Given the description of an element on the screen output the (x, y) to click on. 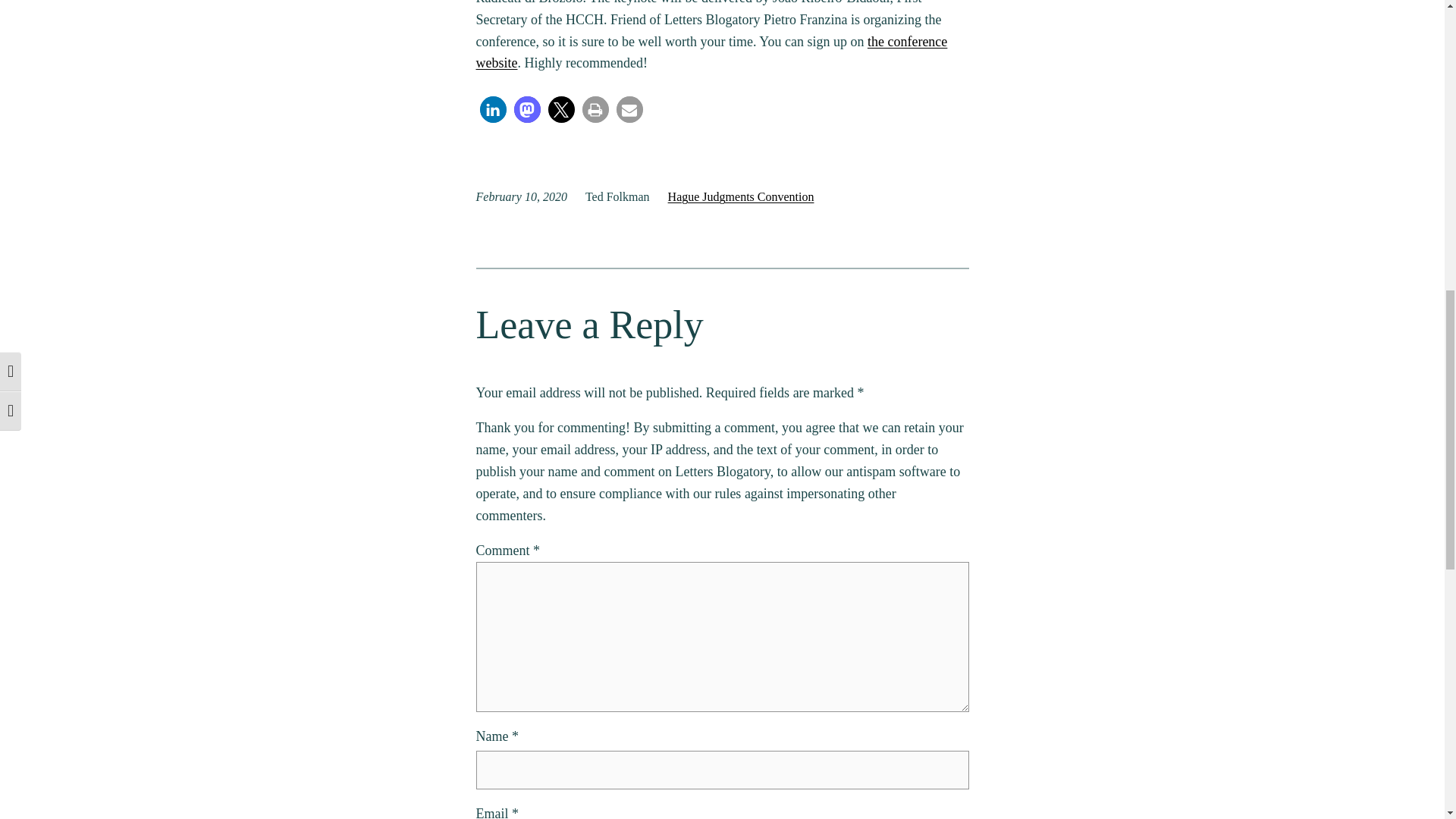
the conference website (711, 52)
